Given the description of an element on the screen output the (x, y) to click on. 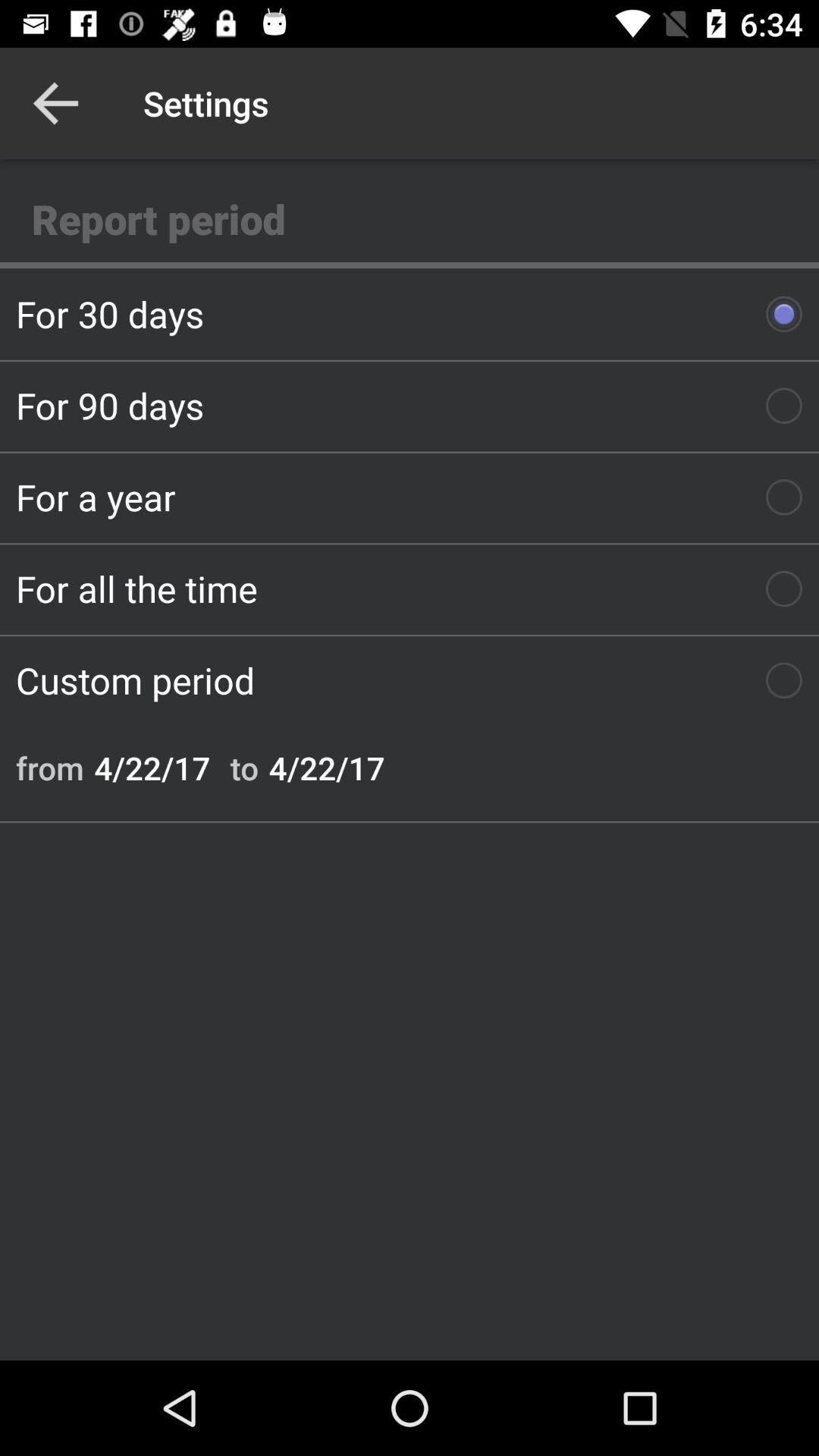
swipe to from item (49, 767)
